Given the description of an element on the screen output the (x, y) to click on. 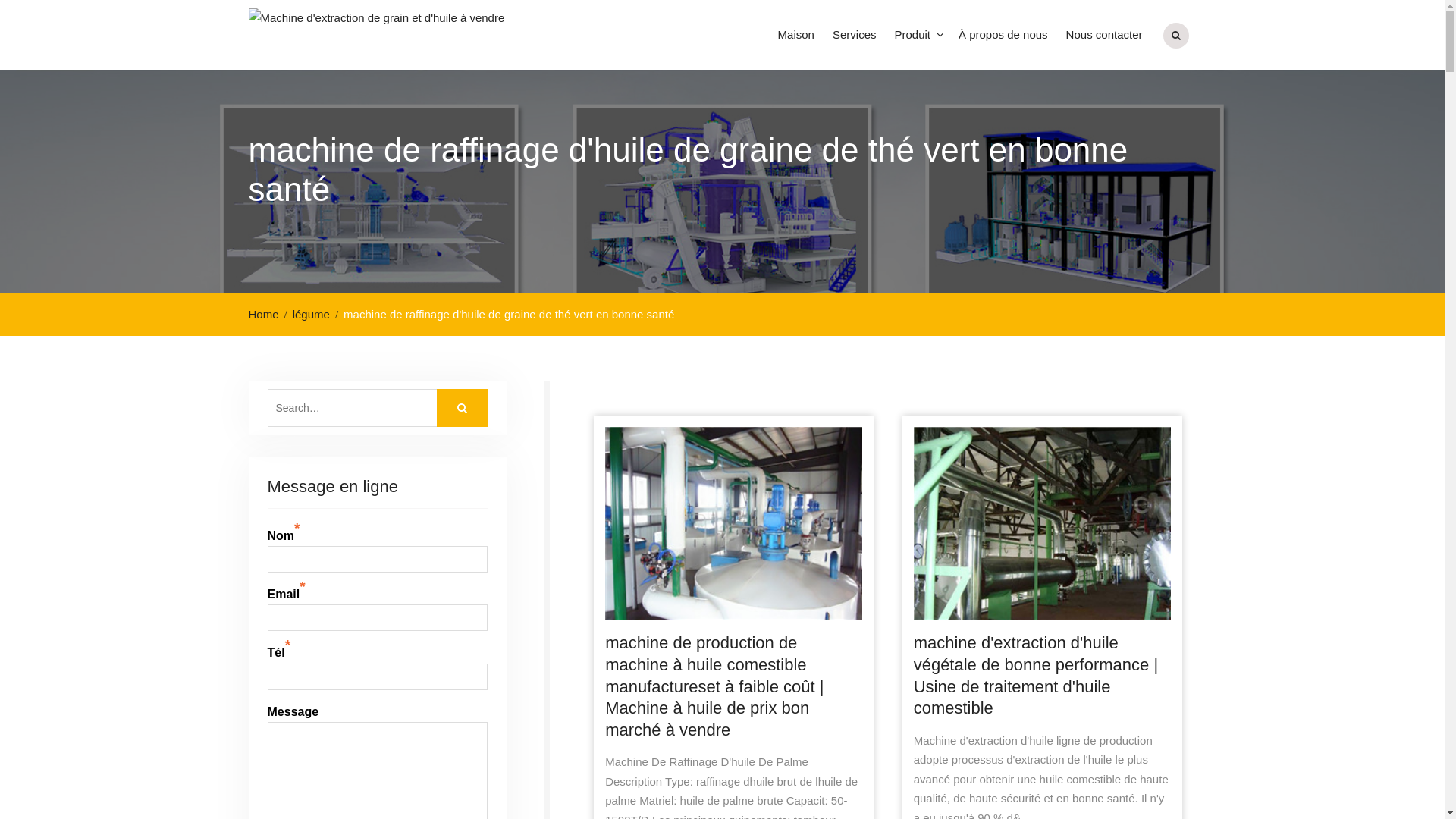
Search for: Element type: hover (376, 407)
Produit Element type: text (916, 34)
Nous contacter Element type: text (1104, 34)
Skip to content Element type: text (0, 0)
Services Element type: text (854, 34)
Home Element type: text (267, 313)
Maison Element type: text (795, 34)
